Given the description of an element on the screen output the (x, y) to click on. 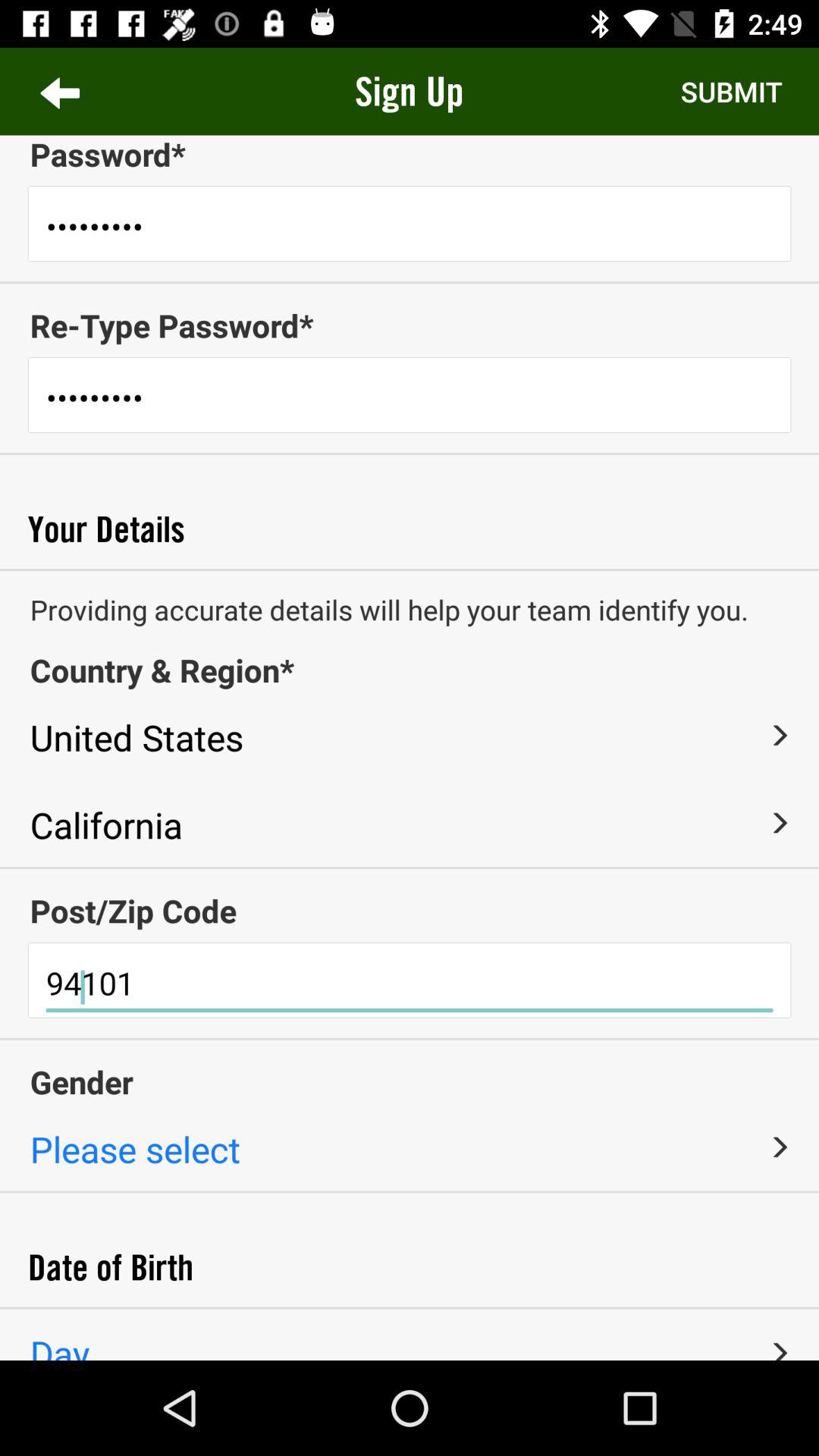
turn on item below providing accurate details item (409, 669)
